Given the description of an element on the screen output the (x, y) to click on. 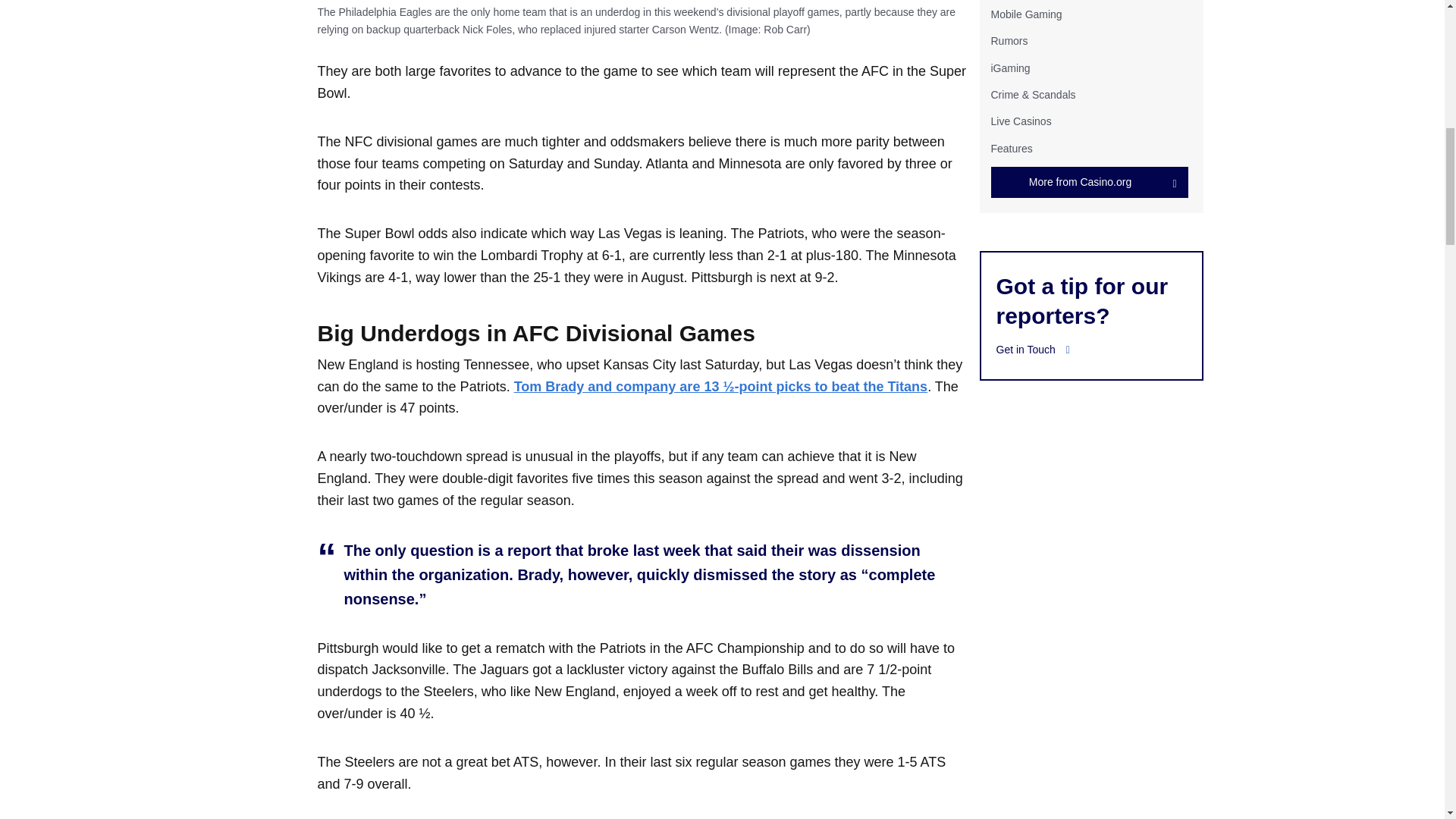
Live Casinos (1020, 121)
Mobile Gaming (1025, 14)
Features (1011, 148)
iGaming (1009, 68)
Mobile Gaming (1025, 14)
iGaming (1009, 68)
Rumors (1008, 40)
Rumors (1008, 40)
